Given the description of an element on the screen output the (x, y) to click on. 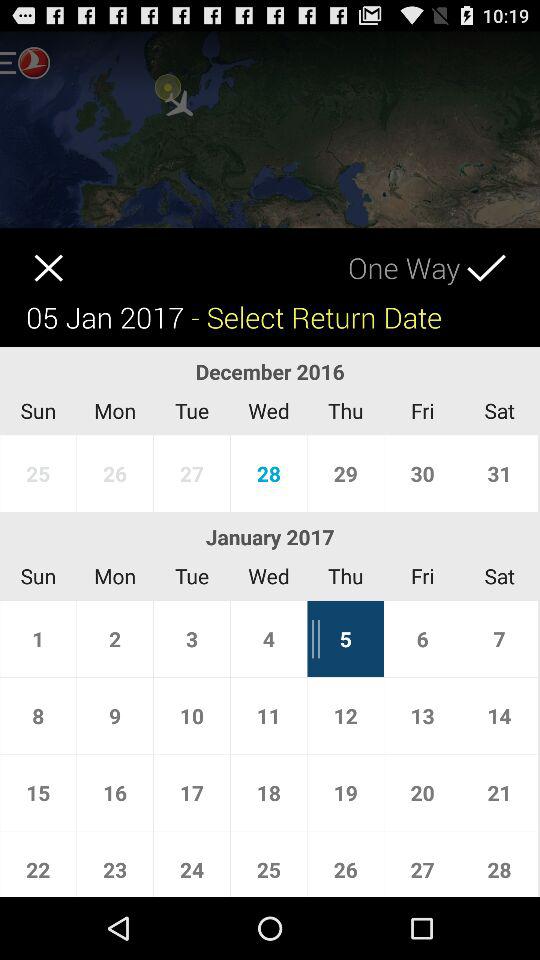
click to ok (503, 254)
